Given the description of an element on the screen output the (x, y) to click on. 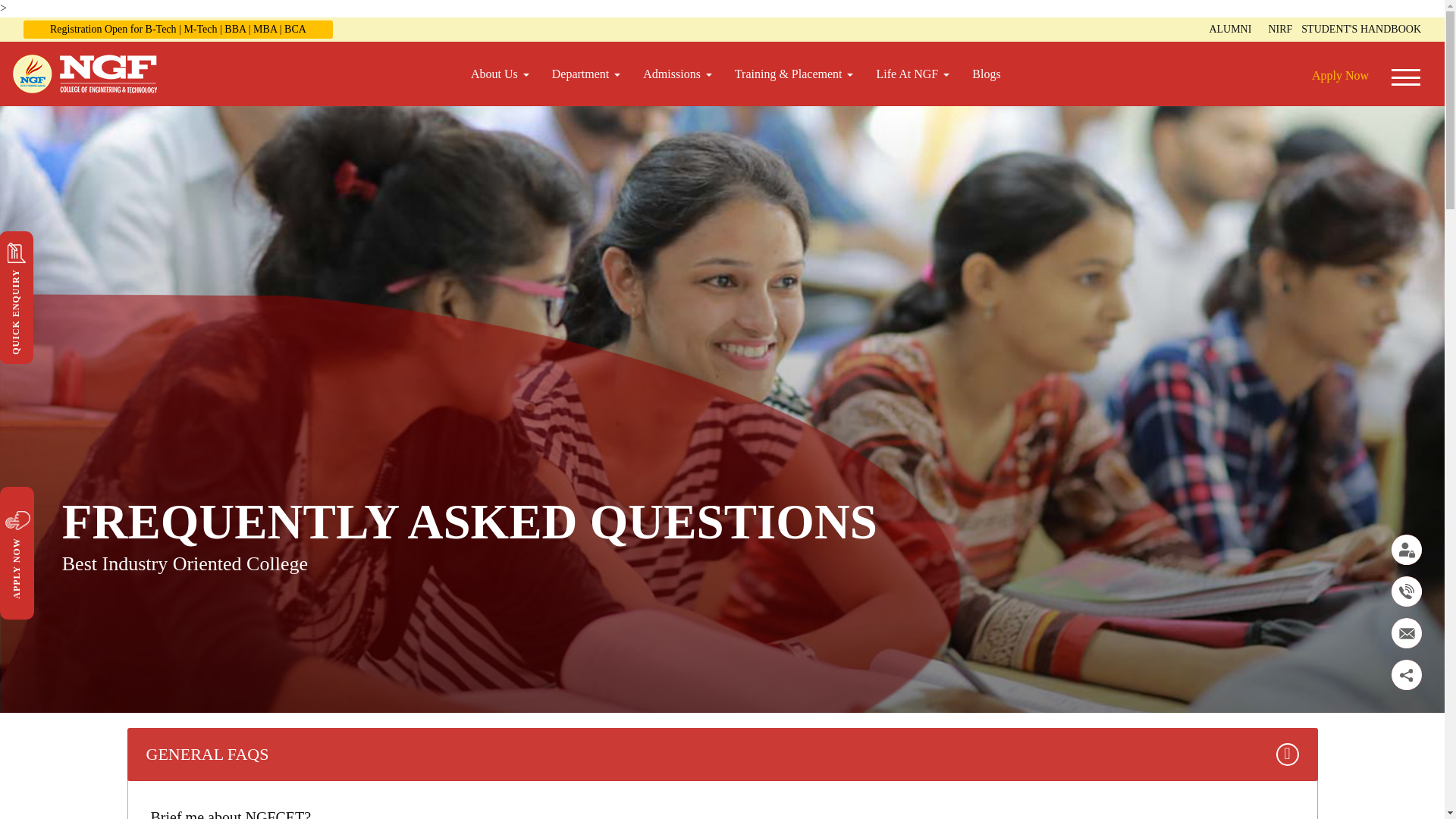
ALUMNI (1229, 29)
Department (585, 73)
STUDENT'S HANDBOOK (1361, 29)
NIRF (1280, 29)
About Us (500, 73)
